Given the description of an element on the screen output the (x, y) to click on. 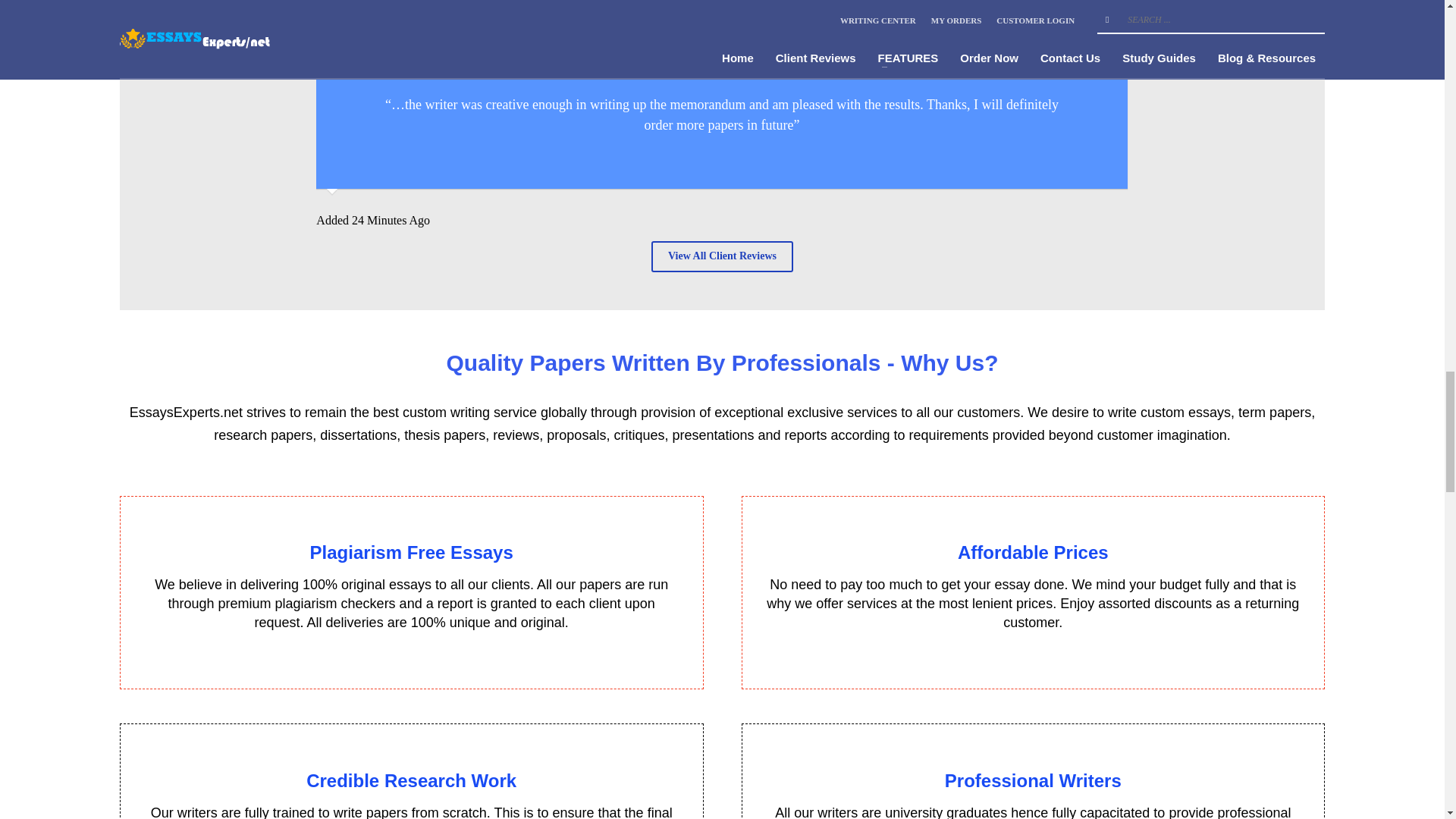
View All Client Reviews (721, 255)
